Given the description of an element on the screen output the (x, y) to click on. 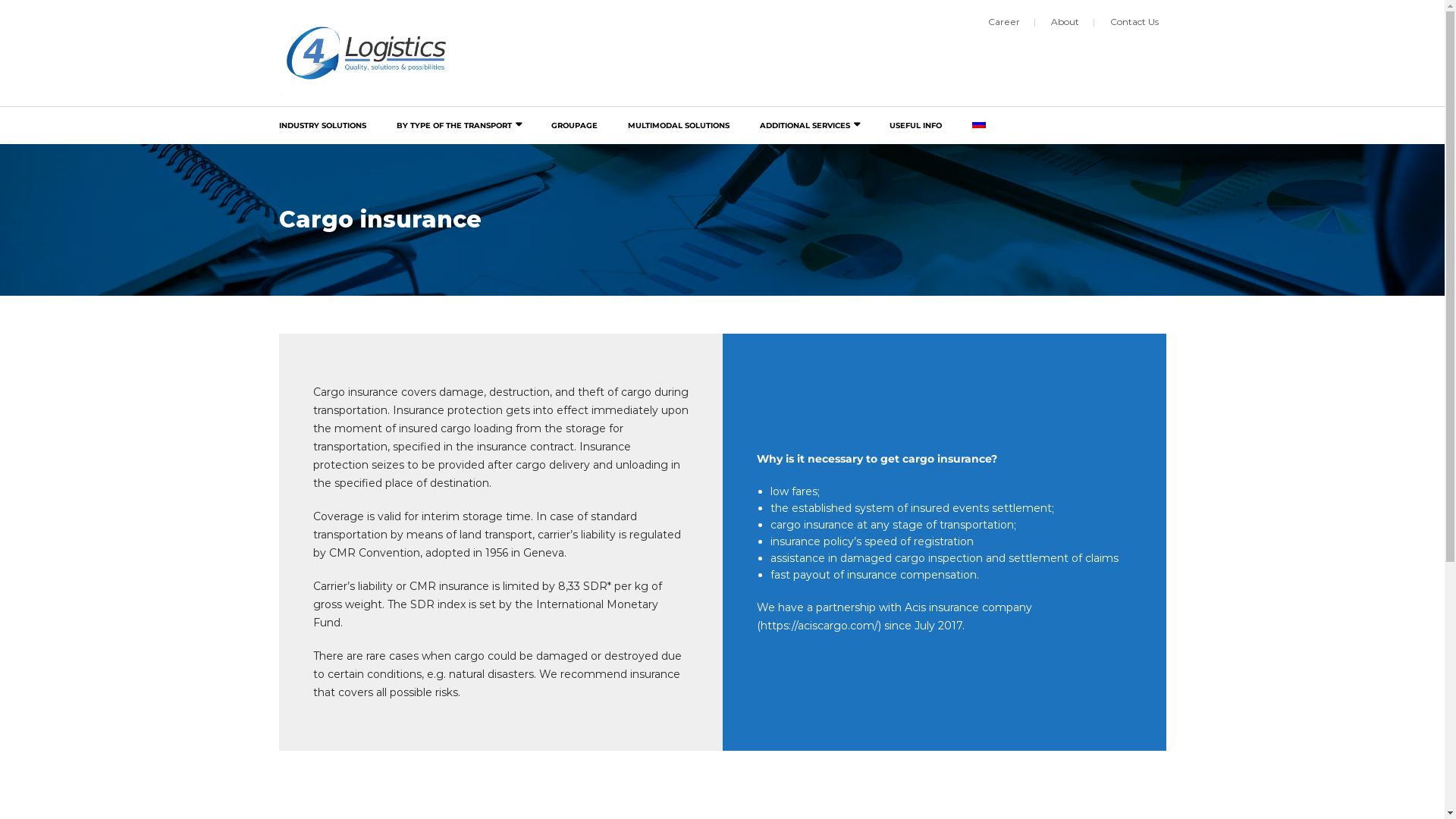
Contact Us Element type: text (1134, 22)
MULTIMODAL SOLUTIONS Element type: text (678, 125)
INDUSTRY SOLUTIONS Element type: text (330, 125)
GROUPAGE Element type: text (573, 125)
ADDITIONAL SERVICES Element type: text (809, 125)
BY TYPE OF THE TRANSPORT Element type: text (457, 125)
USEFUL INFO Element type: text (914, 125)
Career Element type: text (1010, 22)
About Element type: text (1072, 22)
